Given the description of an element on the screen output the (x, y) to click on. 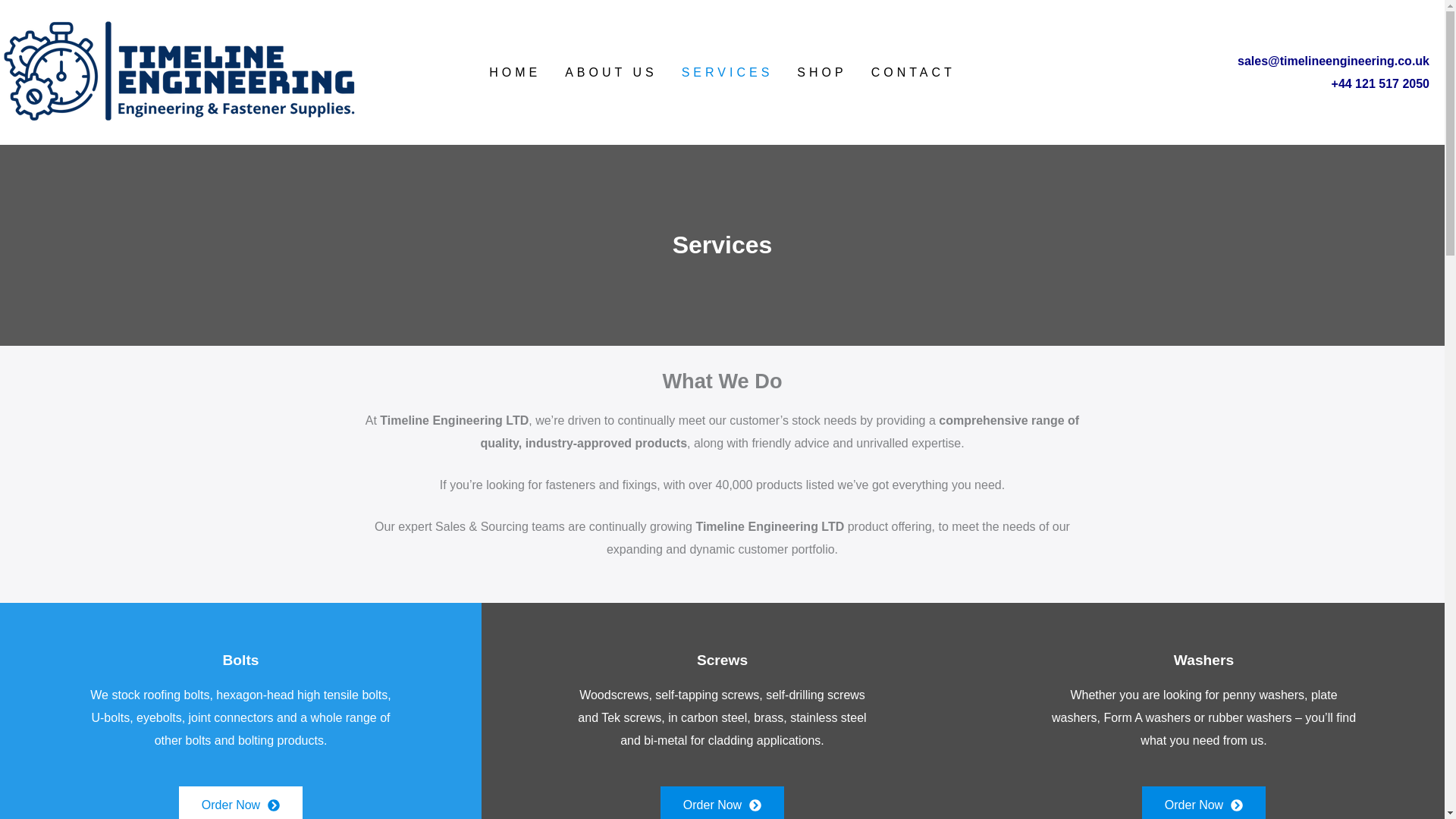
Order Now (722, 802)
Order Now (240, 802)
Order Now (1203, 802)
